Given the description of an element on the screen output the (x, y) to click on. 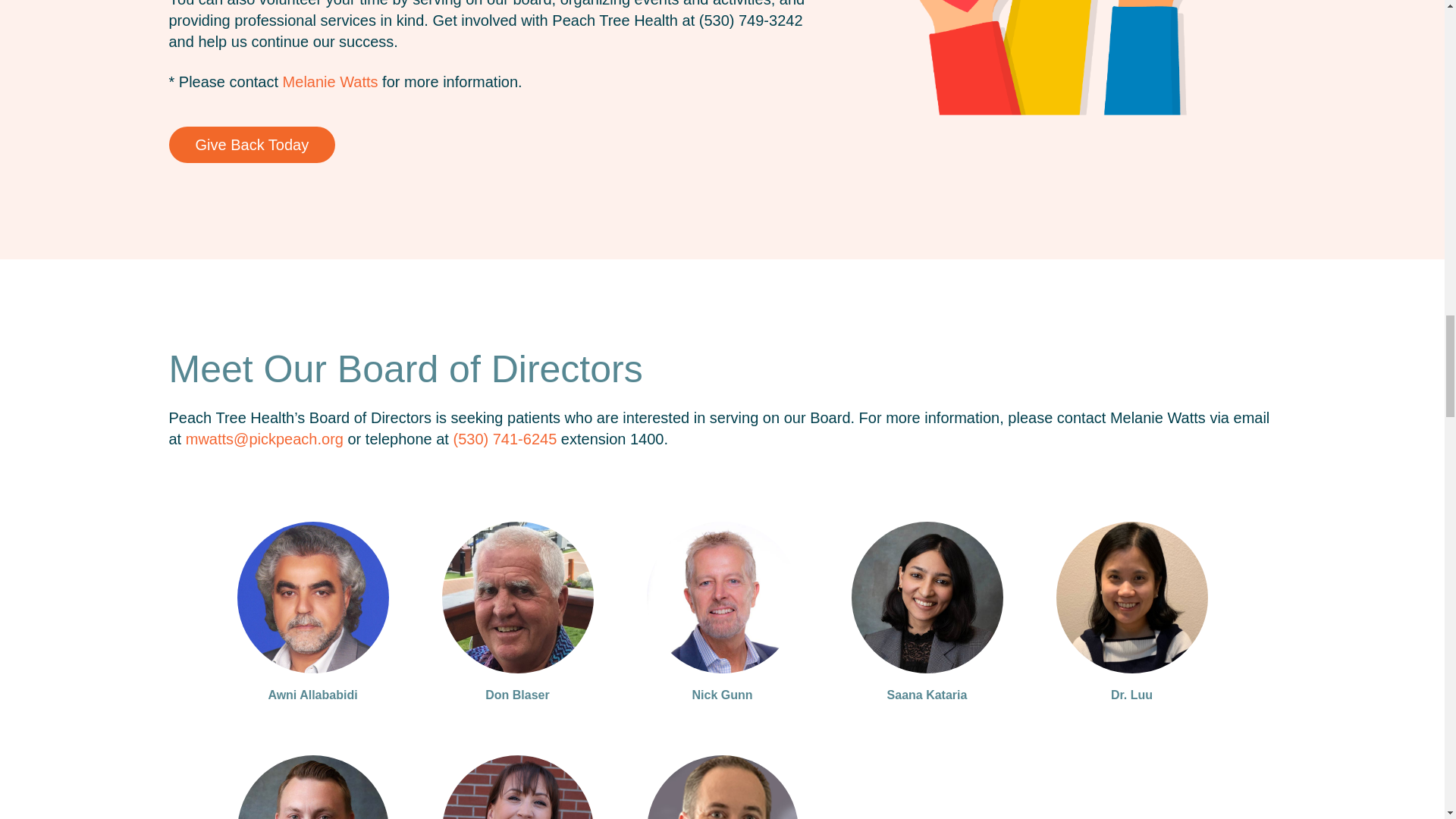
Hands raised in air (1058, 57)
